Given the description of an element on the screen output the (x, y) to click on. 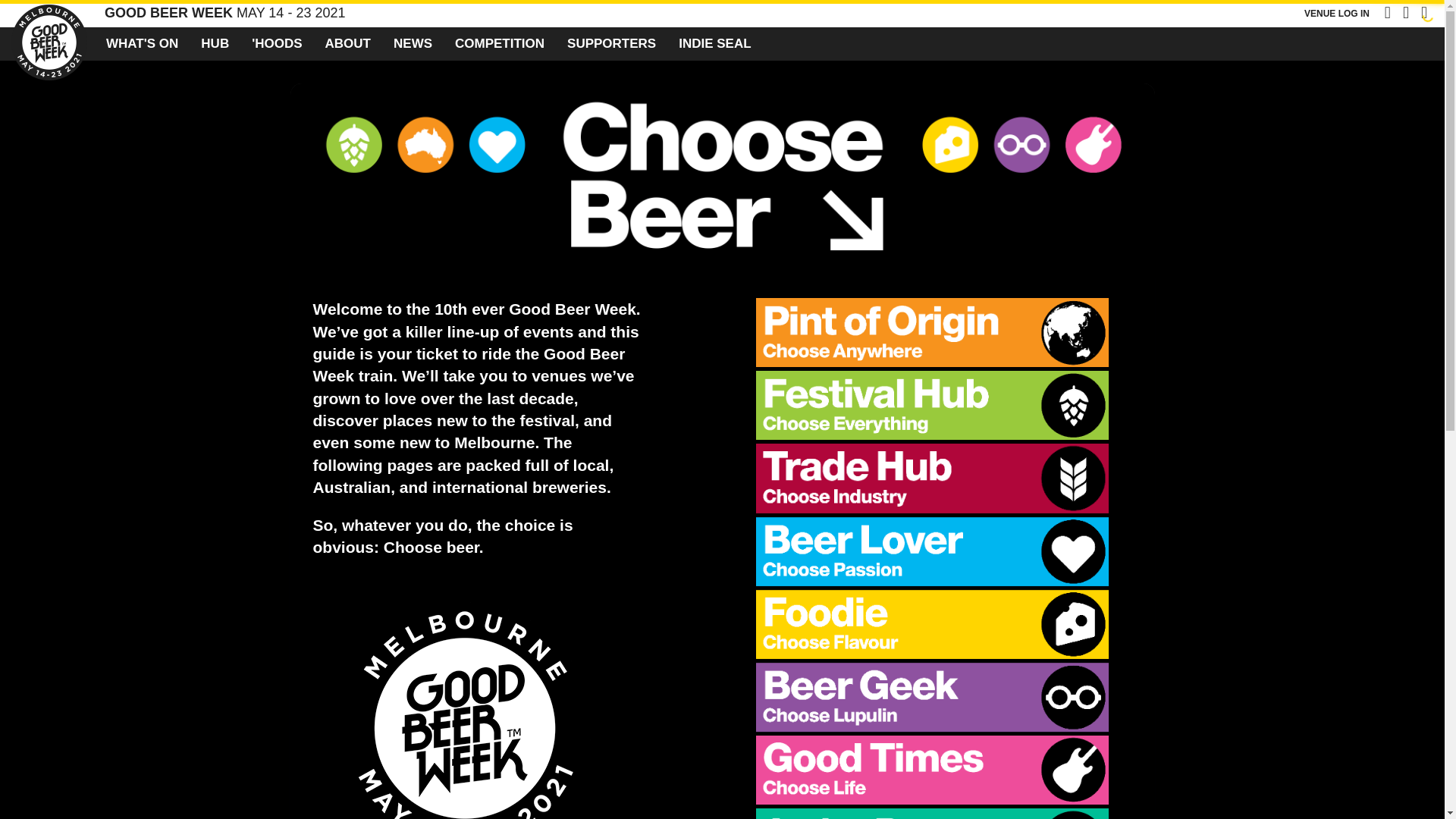
WHAT'S ON (141, 43)
HUB (214, 43)
COMPETITION (500, 43)
'HOODS (276, 43)
SUPPORTERS (611, 43)
VENUE LOG IN (1336, 12)
NEWS (412, 43)
ABOUT (347, 43)
INDIE SEAL (713, 43)
